Given the description of an element on the screen output the (x, y) to click on. 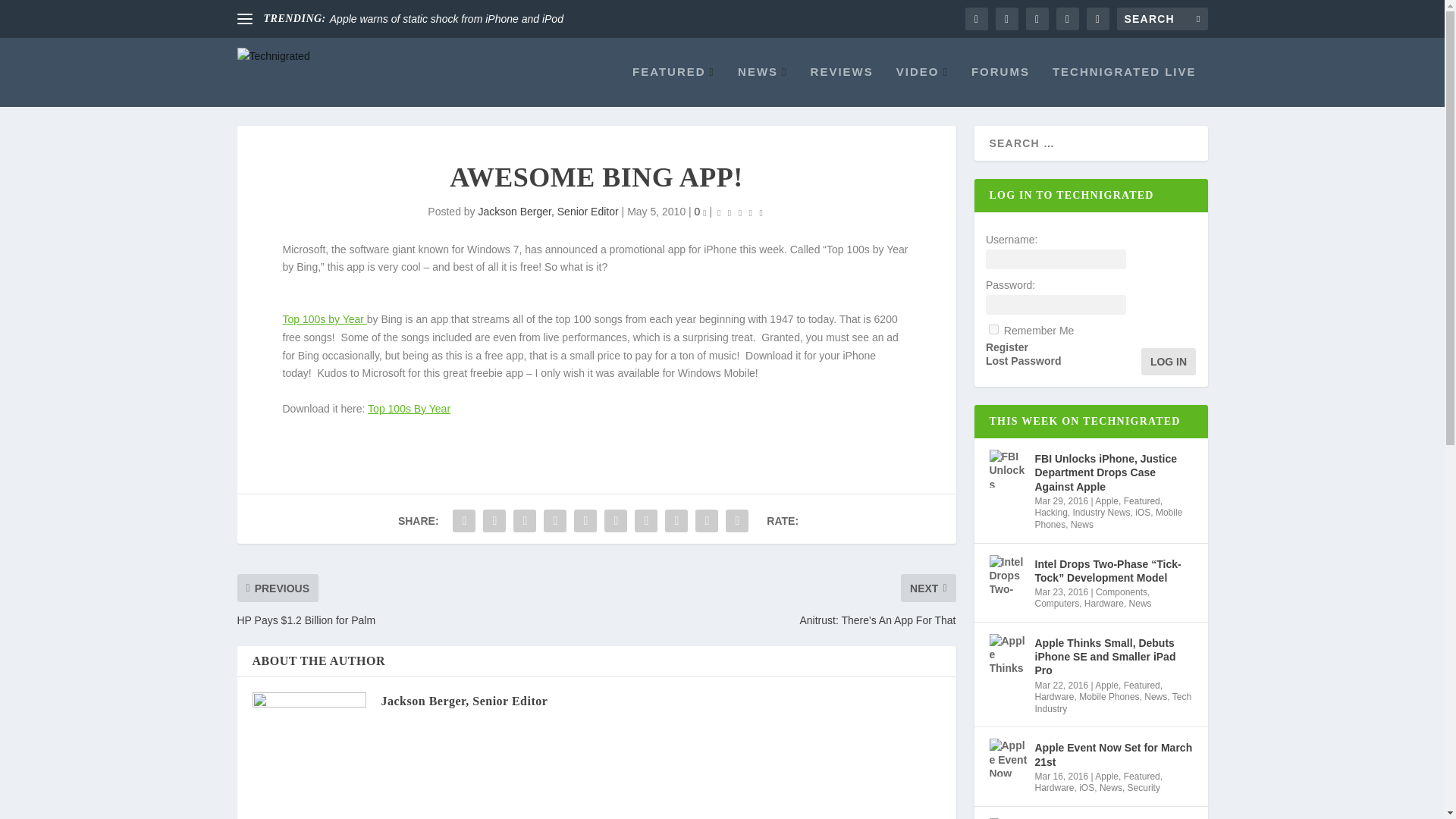
forever (993, 329)
Search for: (1161, 18)
RECENT (1034, 112)
Apple warns of static shock from iPhone and iPod (446, 19)
FEATURED (672, 86)
